Given the description of an element on the screen output the (x, y) to click on. 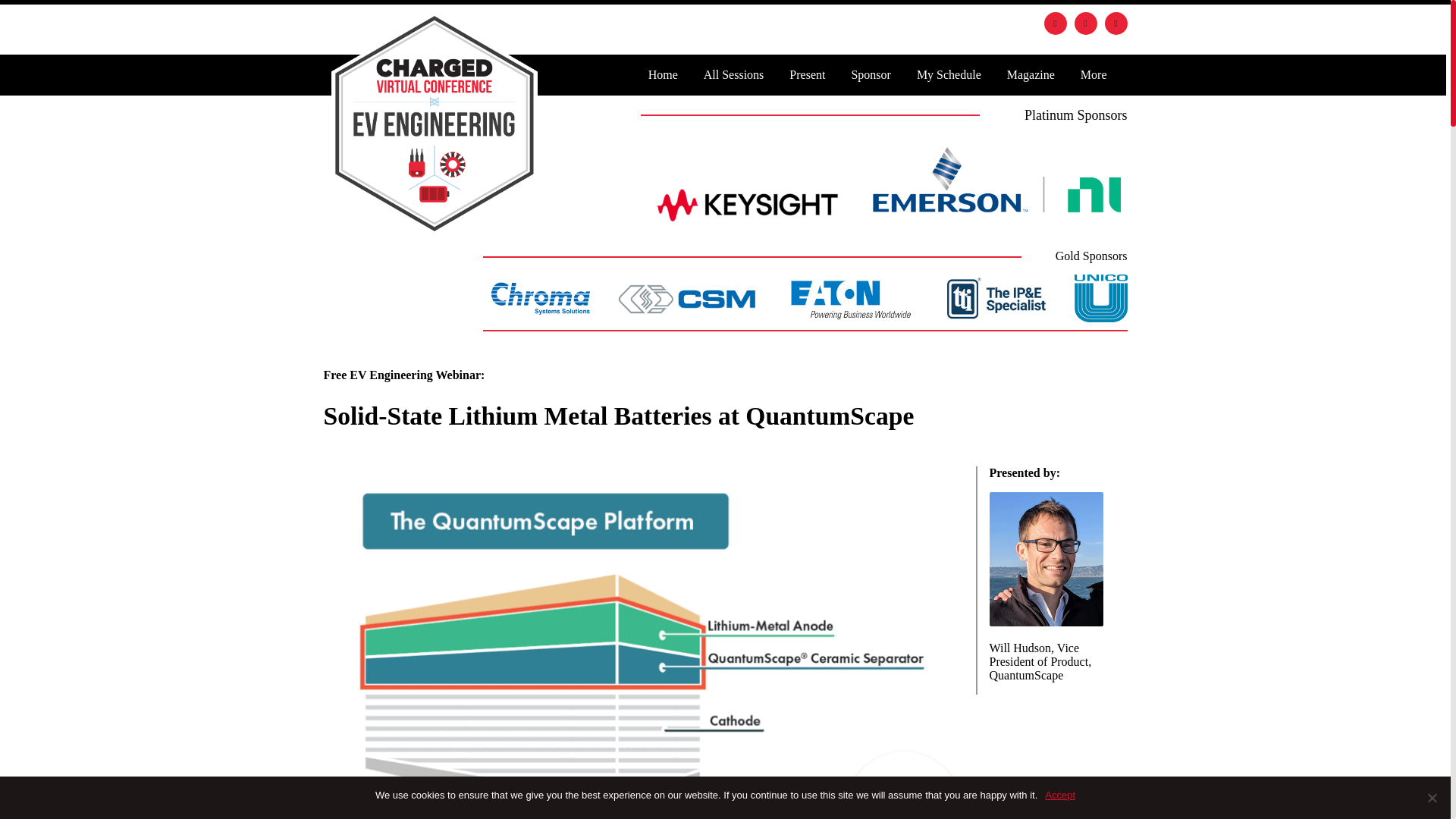
Magazine (1030, 74)
Present (806, 74)
Charged EVs (433, 123)
Home (662, 74)
My Schedule (948, 74)
Sponsor (870, 74)
More (1093, 74)
All Sessions (734, 74)
